Given the description of an element on the screen output the (x, y) to click on. 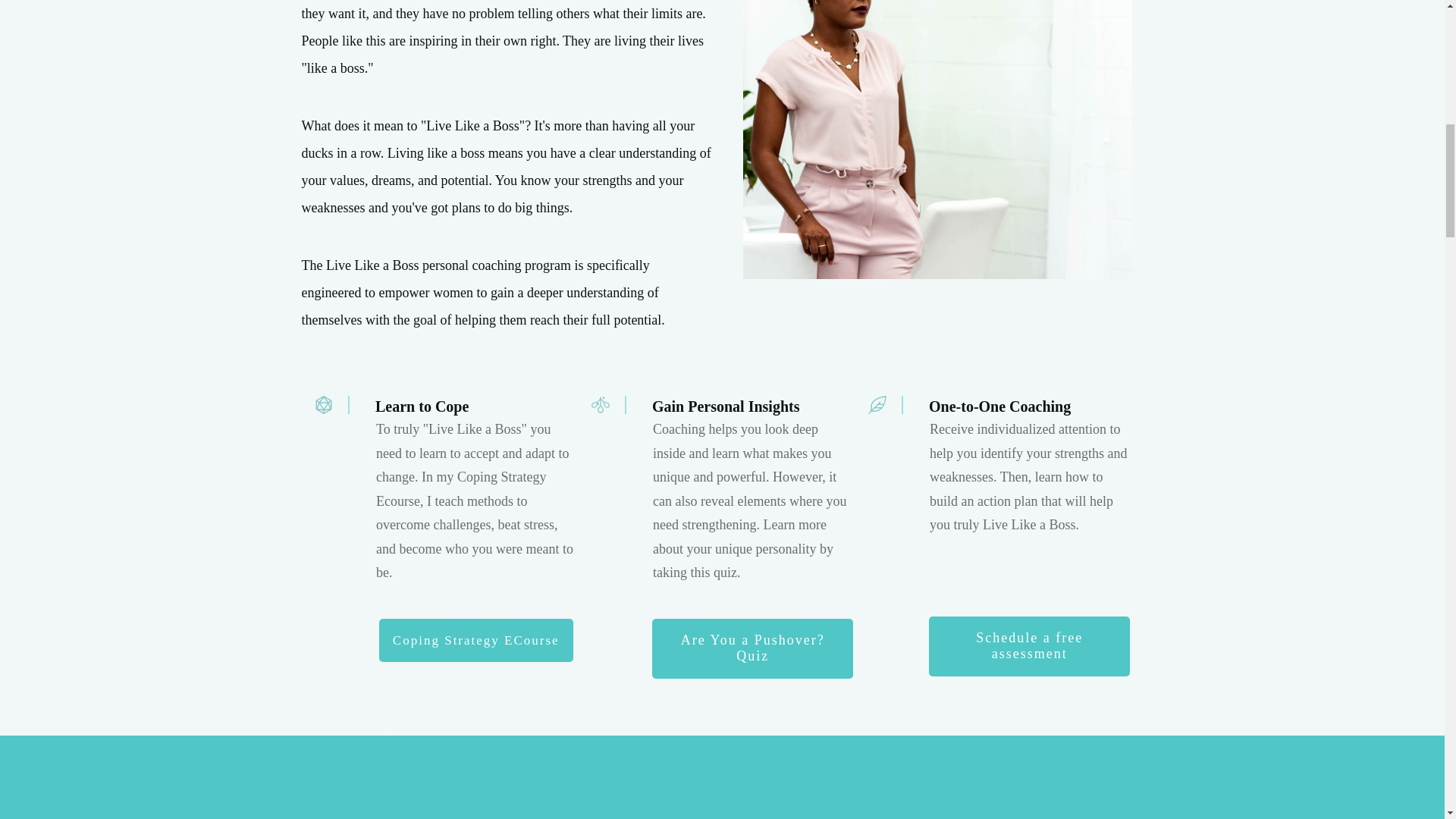
Coping Strategy ECourse (475, 640)
Are You a Pushover? Quiz (752, 648)
Schedule a free assessment (1028, 645)
